Given the description of an element on the screen output the (x, y) to click on. 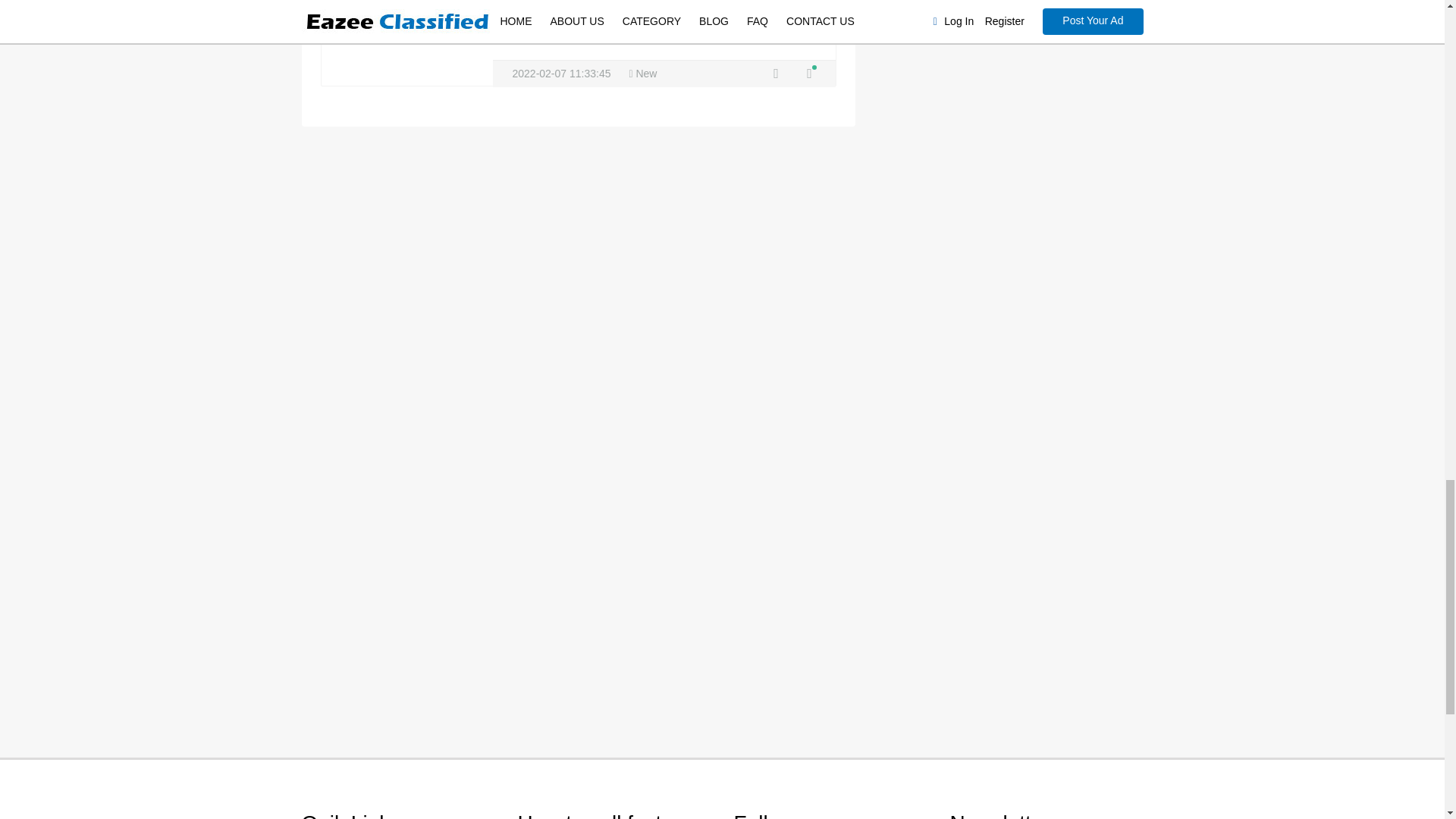
Bangalore, Bangalore, Karnataka, India (776, 73)
Lodha Group (808, 73)
